Given the description of an element on the screen output the (x, y) to click on. 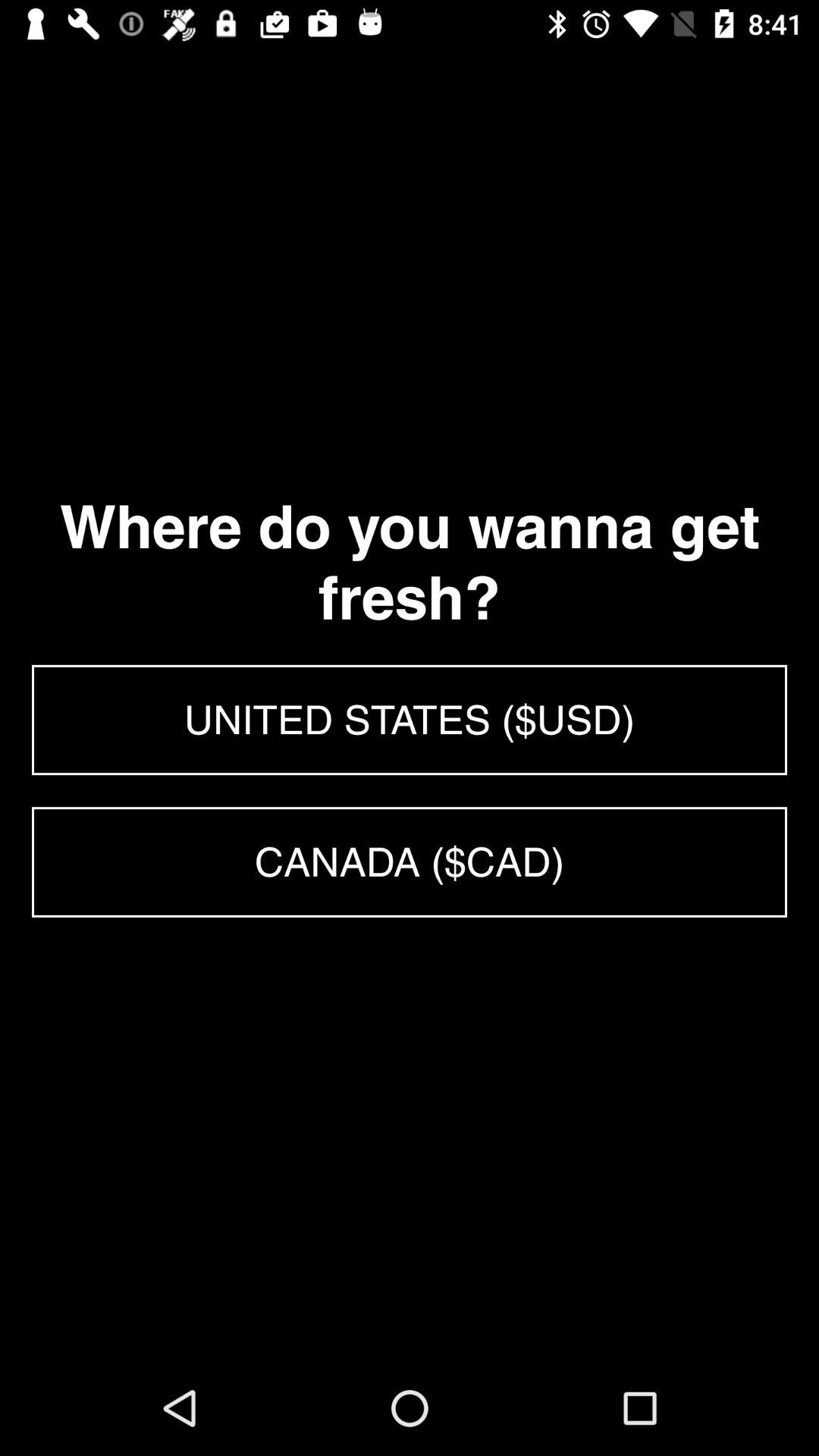
tap the canada ($cad) (409, 862)
